Given the description of an element on the screen output the (x, y) to click on. 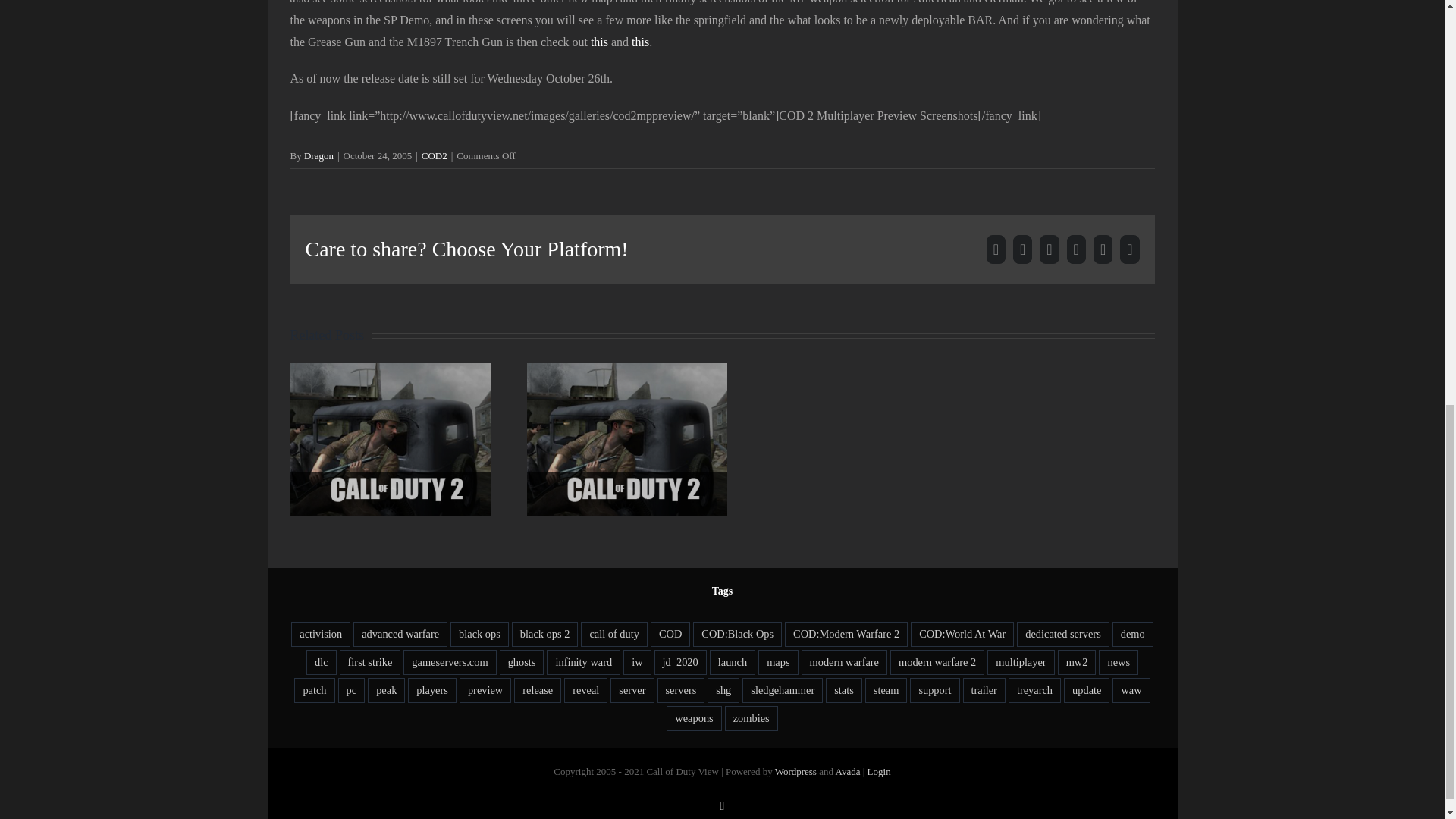
COD2 (434, 155)
Email (1128, 249)
WhatsApp (1076, 249)
Posts by Dragon (318, 155)
X (1022, 249)
Reddit (1048, 249)
Tumblr (1102, 249)
this (599, 42)
Facebook (996, 249)
this (640, 42)
activision (320, 634)
Dragon (318, 155)
